Given the description of an element on the screen output the (x, y) to click on. 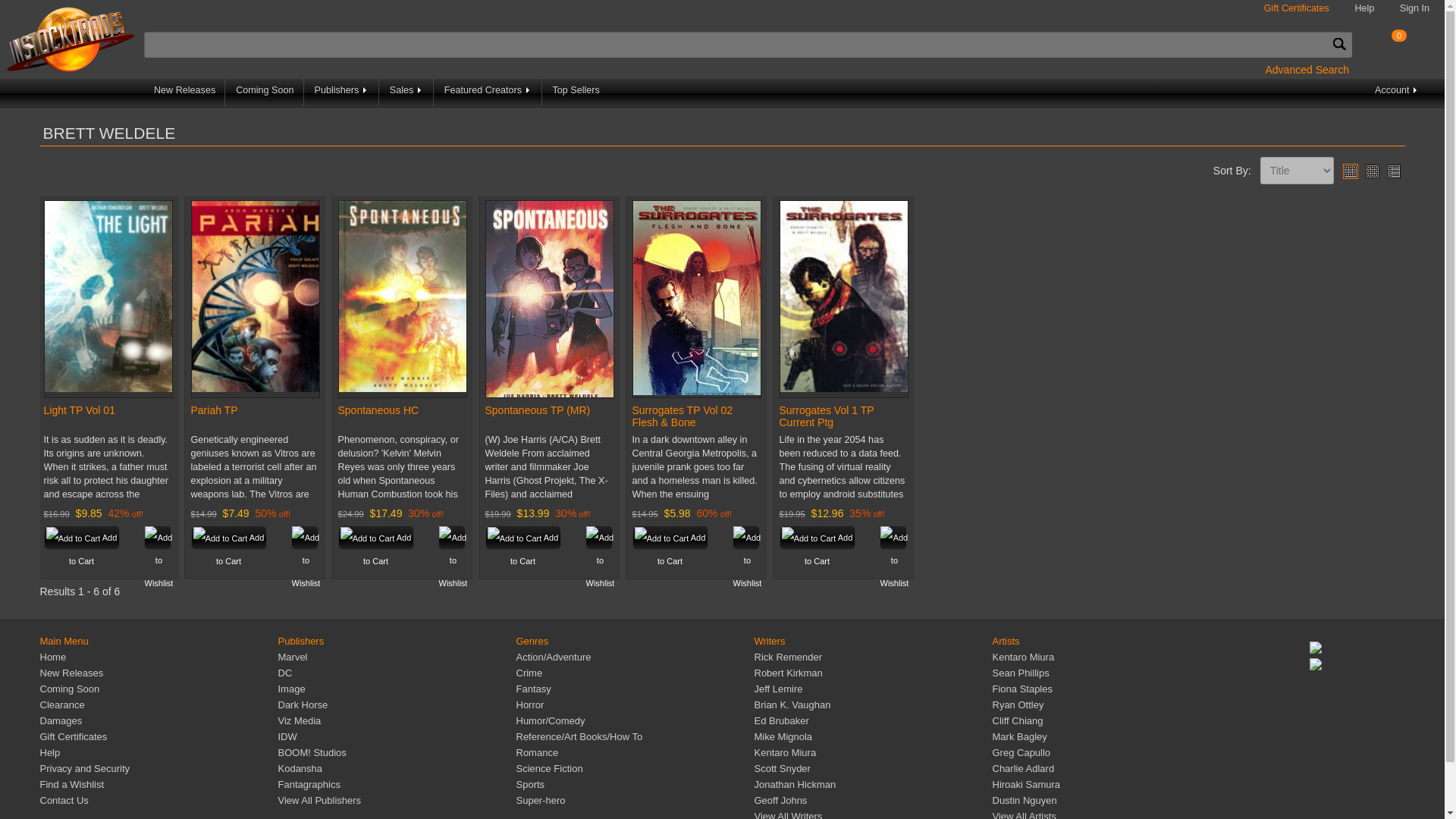
Add to Cart (228, 537)
Add to Cart (228, 537)
Thumbnail Plus View (1349, 171)
Thumbnail List View (1392, 171)
0 (1399, 41)
Add to Wishlist (746, 537)
Add to Cart (522, 537)
Advanced Search (1307, 69)
Add to Cart (81, 537)
New Releases (184, 92)
